Given the description of an element on the screen output the (x, y) to click on. 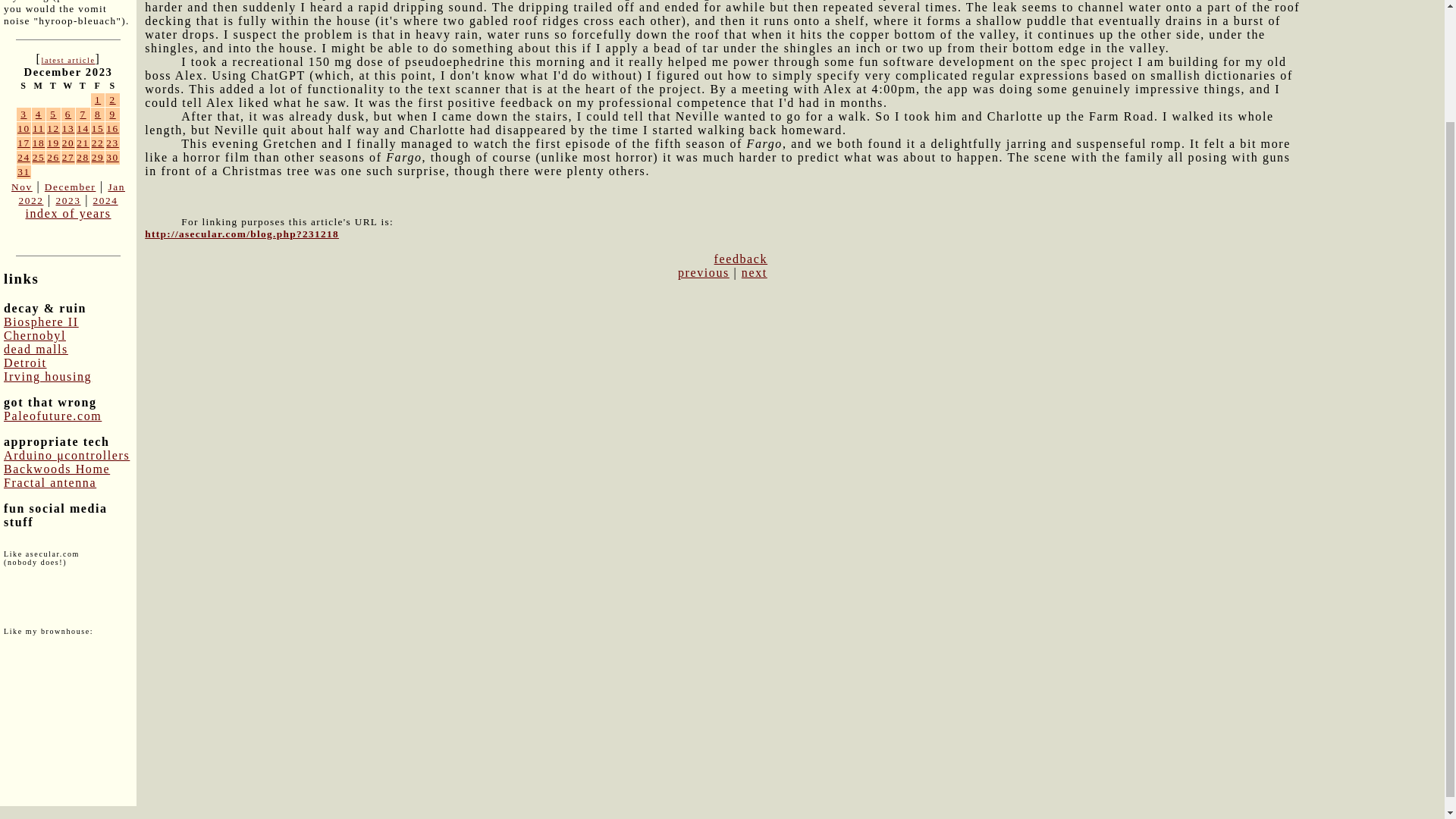
2024 (105, 200)
26 (52, 156)
2022 (30, 200)
29 (97, 156)
December (70, 186)
17 (23, 142)
12 (52, 128)
2023 (67, 200)
25 (38, 156)
27 (68, 156)
